Given the description of an element on the screen output the (x, y) to click on. 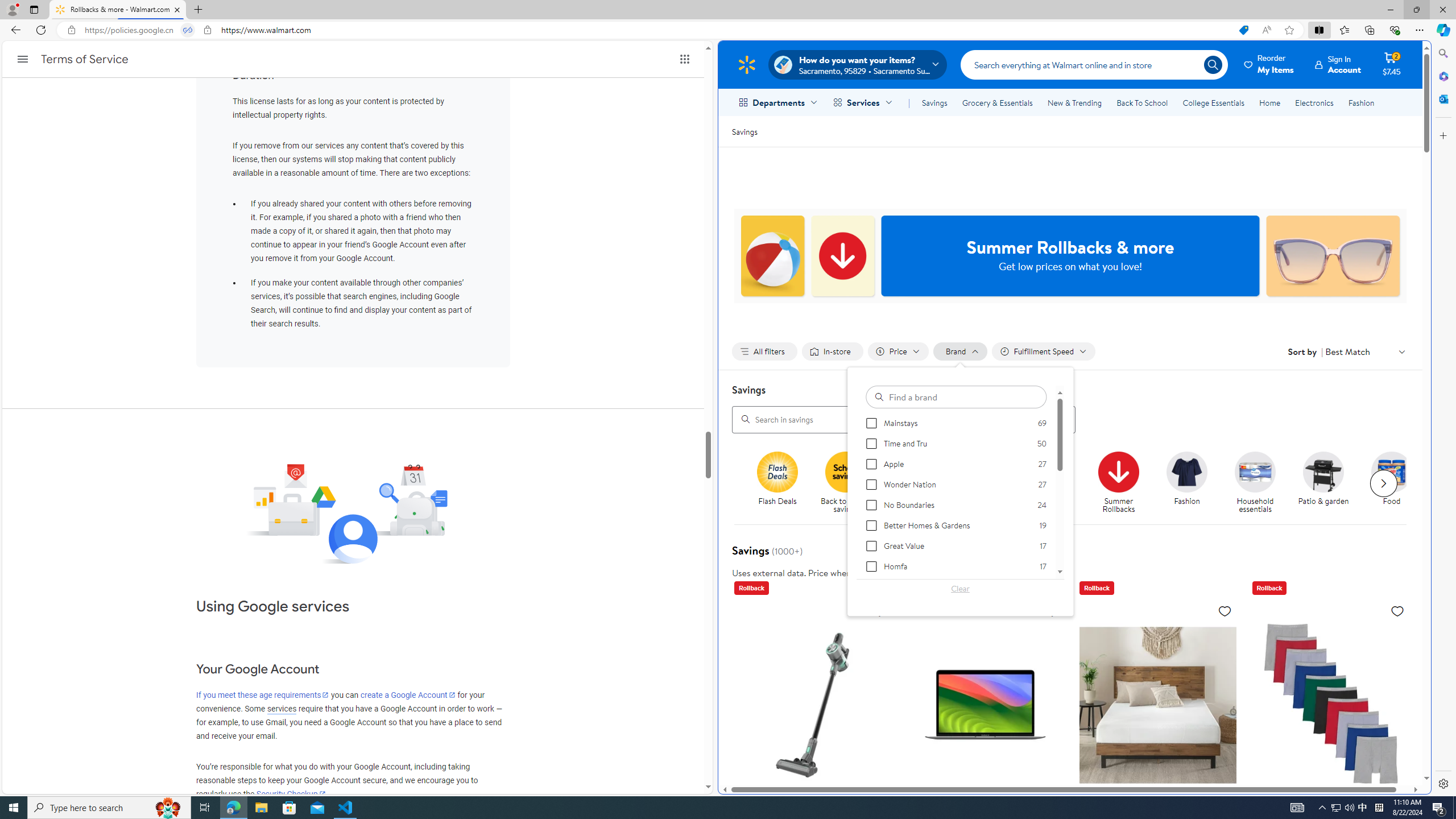
Sign InAccount (1338, 64)
Cart contains 2 items Total Amount $7.45 (1391, 64)
Get it today Get it today (1050, 478)
Savings (933, 102)
Filter by Price not applied, activate to change (897, 351)
Back to school savings (849, 483)
Food (1395, 483)
legal information (928, 572)
Hanes Men's Super Value Pack Assorted Boxer Briefs, 10 Pack (1330, 704)
Reorder My Items (1269, 64)
